Given the description of an element on the screen output the (x, y) to click on. 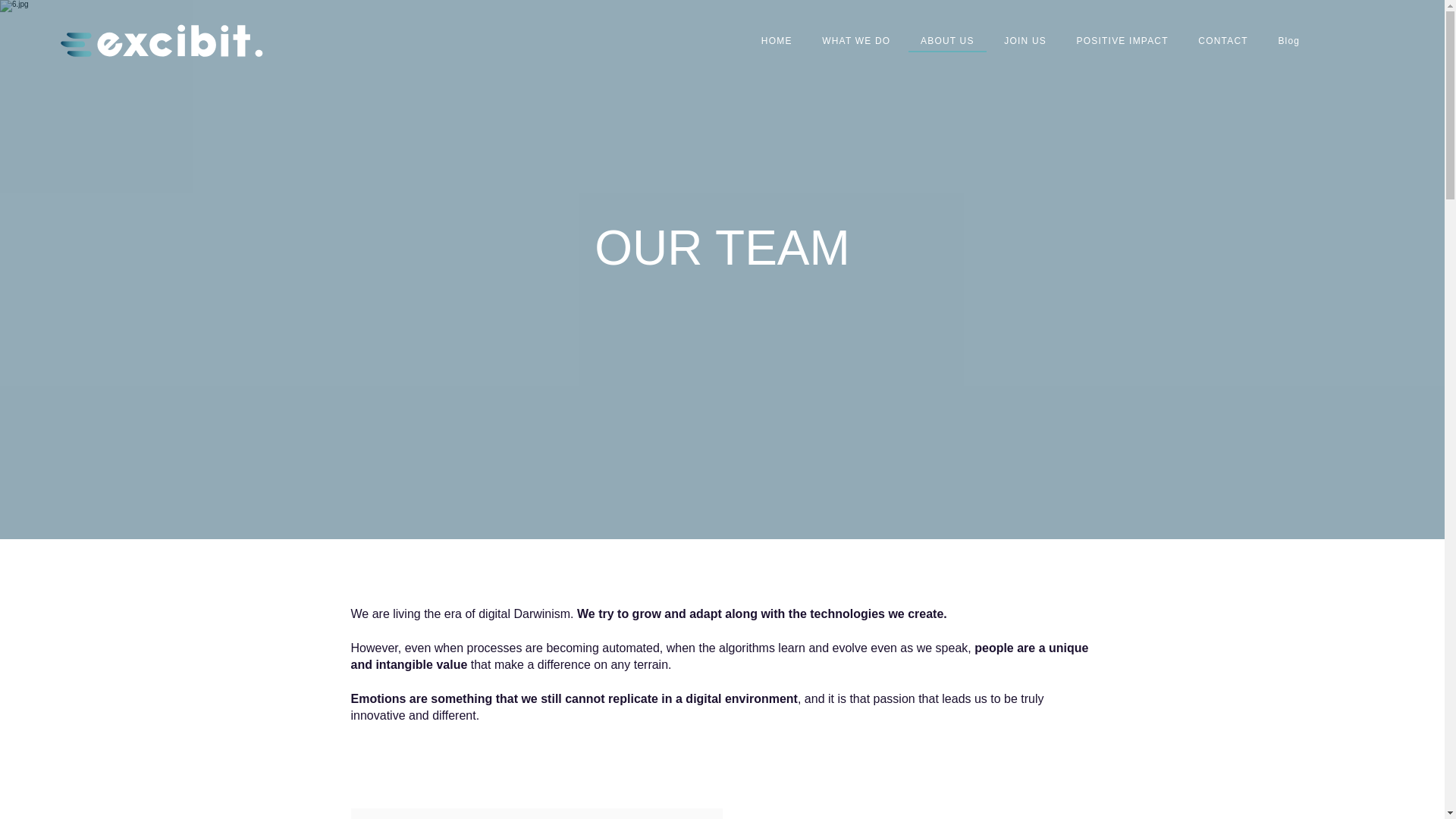
Blog (1288, 41)
WHAT WE DO (855, 41)
ABOUT US (946, 41)
HOME (776, 41)
POSITIVE IMPACT (1122, 41)
CONTACT (1223, 41)
JOIN US (1024, 41)
